Given the description of an element on the screen output the (x, y) to click on. 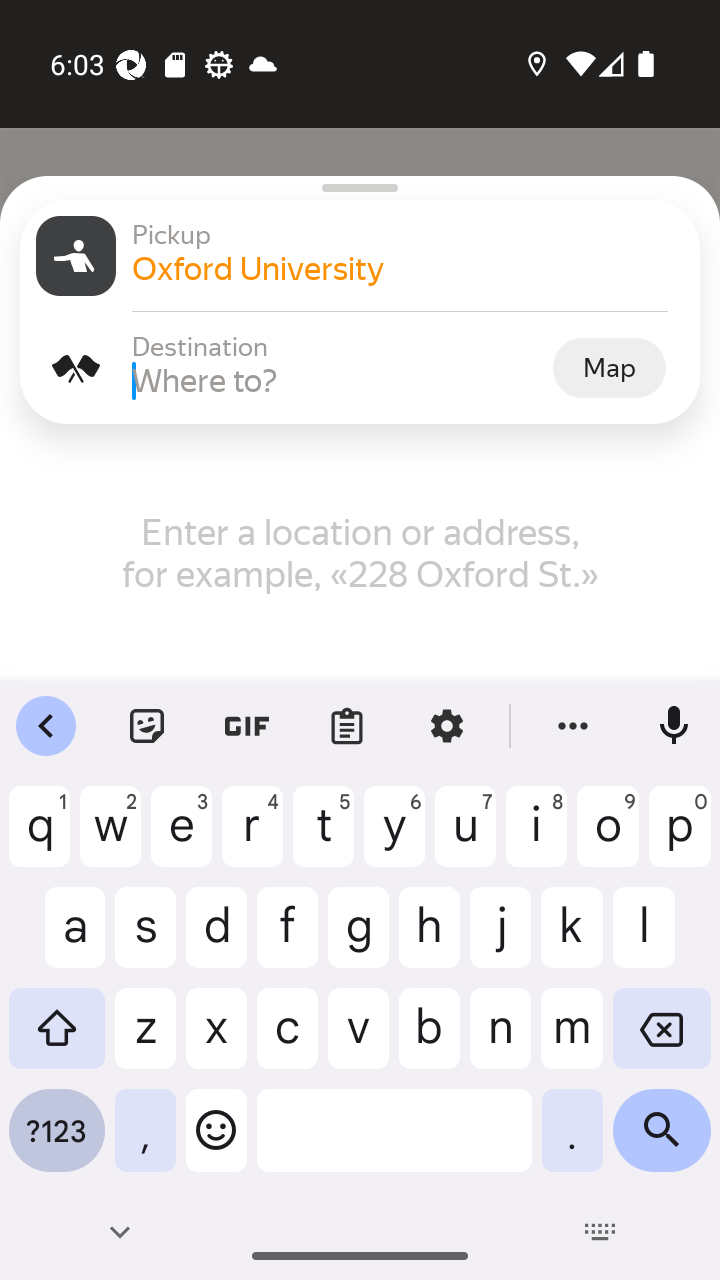
Pickup Pickup Oxford University (359, 255)
Oxford University (407, 268)
Destination Destination Where to? Map (359, 367)
Map (609, 367)
Where to? (340, 380)
